Given the description of an element on the screen output the (x, y) to click on. 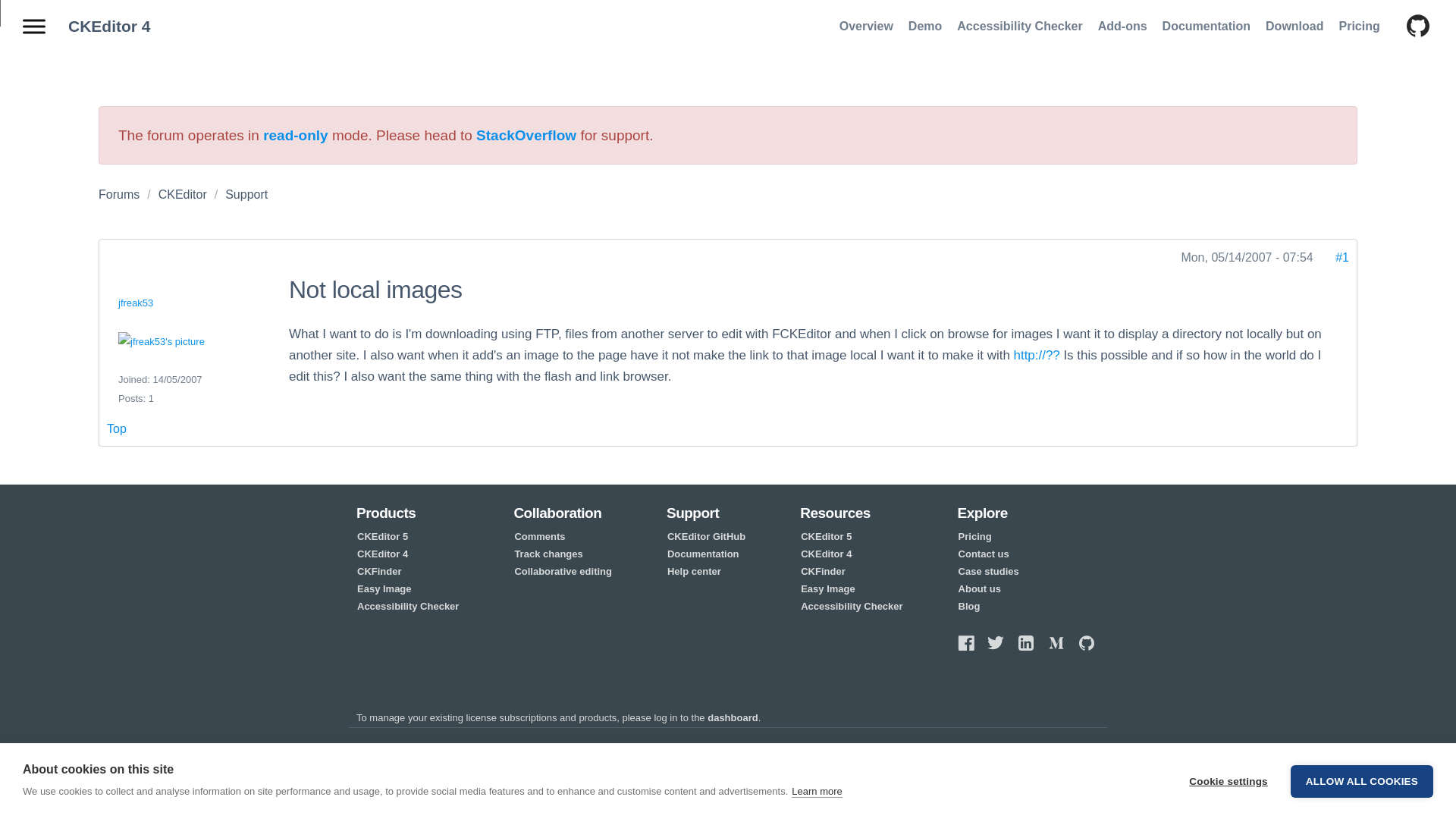
Overview (866, 26)
Download (1293, 26)
Pricing (1358, 26)
CKEditor (182, 194)
Support (246, 194)
See more details about read-only mode (296, 135)
Documentation (1205, 26)
Forums (119, 194)
The CKEditor tag at StackOverflow (526, 135)
StackOverflow (526, 135)
jfreak53 (134, 302)
Demo (925, 26)
CKEditor 4 (109, 26)
CKEditor 4 on GitHub. (1410, 26)
read-only (296, 135)
